Given the description of an element on the screen output the (x, y) to click on. 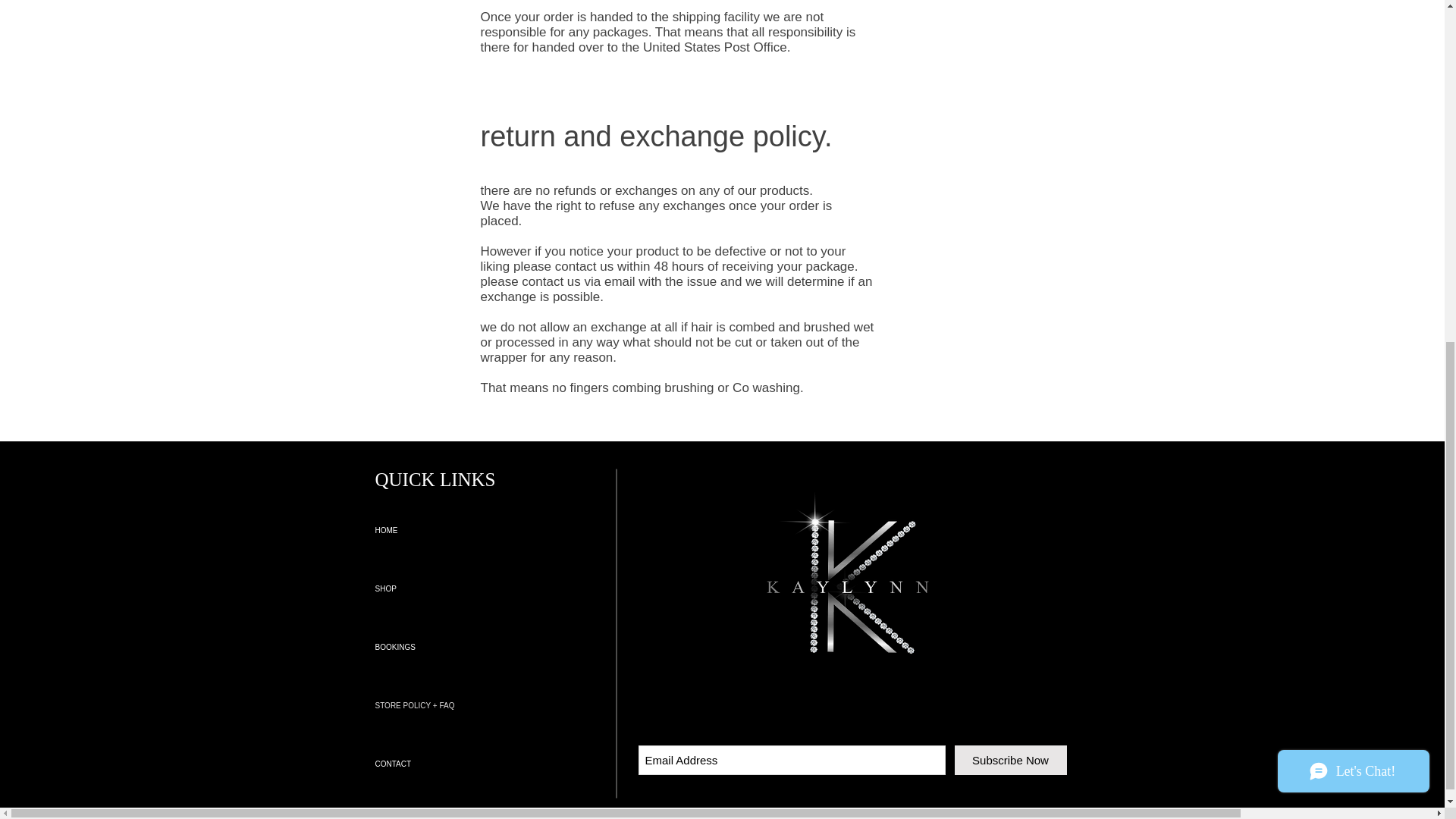
BOOKINGS (495, 647)
Subscribe Now (1009, 759)
SHOP (495, 588)
Wix Chat (1356, 176)
CONTACT (495, 763)
HOME (495, 530)
